Given the description of an element on the screen output the (x, y) to click on. 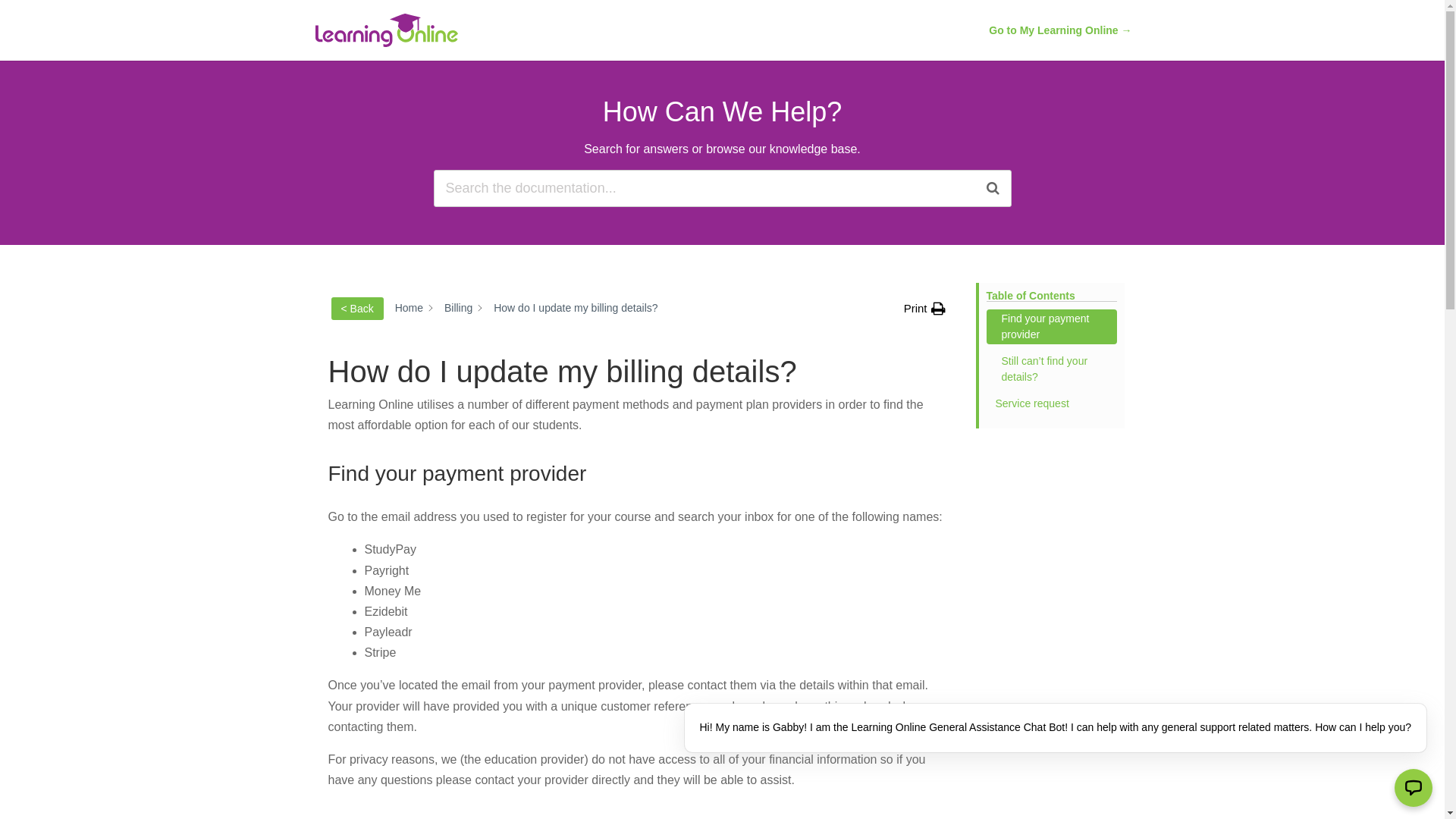
Find your payment provider Element type: text (1050, 326)
Service request Element type: text (1050, 403)
Billing Element type: text (458, 307)
< Back Element type: text (356, 308)
Home Element type: text (409, 307)
